Given the description of an element on the screen output the (x, y) to click on. 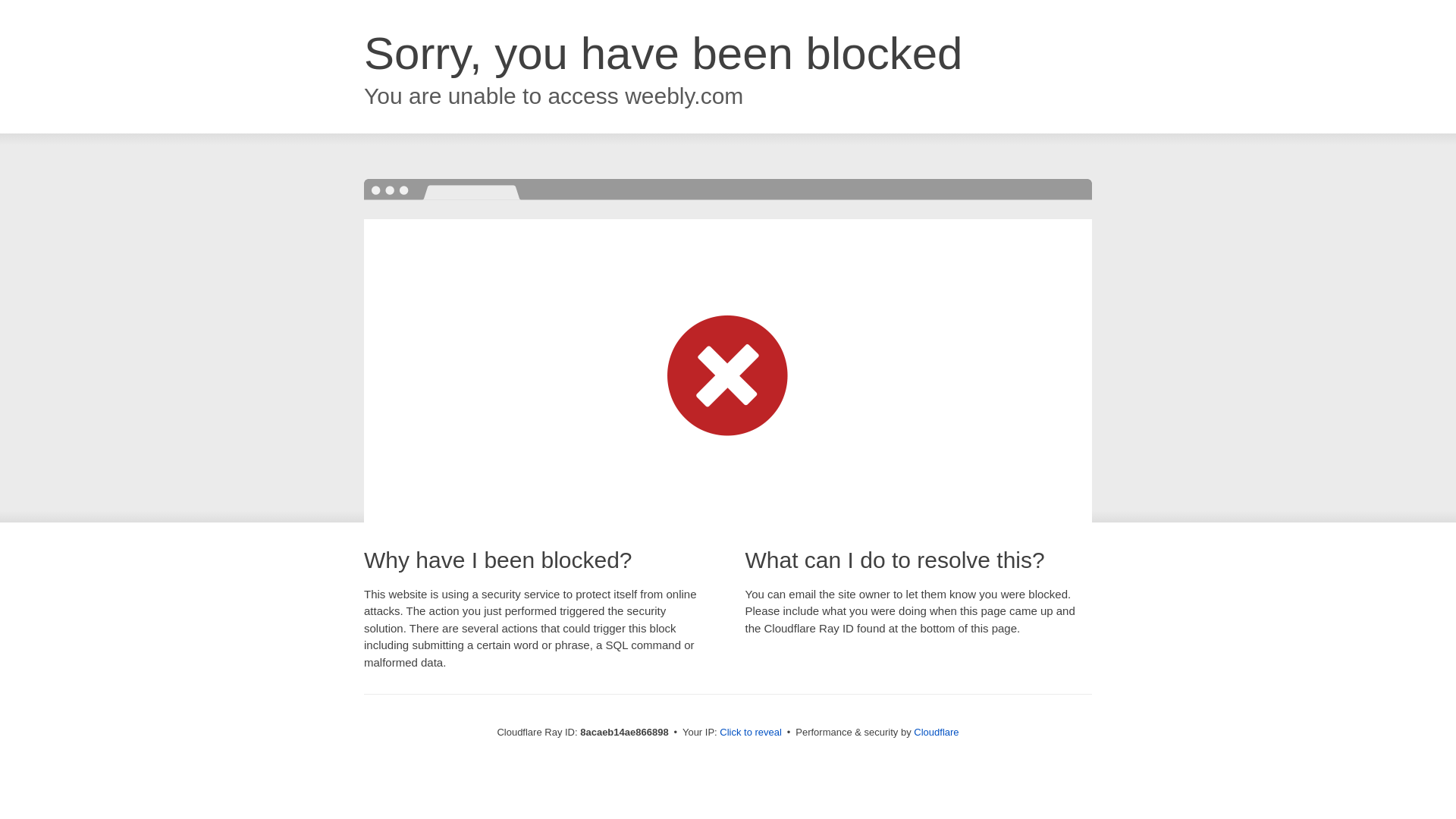
Click to reveal (750, 732)
Cloudflare (936, 731)
